Given the description of an element on the screen output the (x, y) to click on. 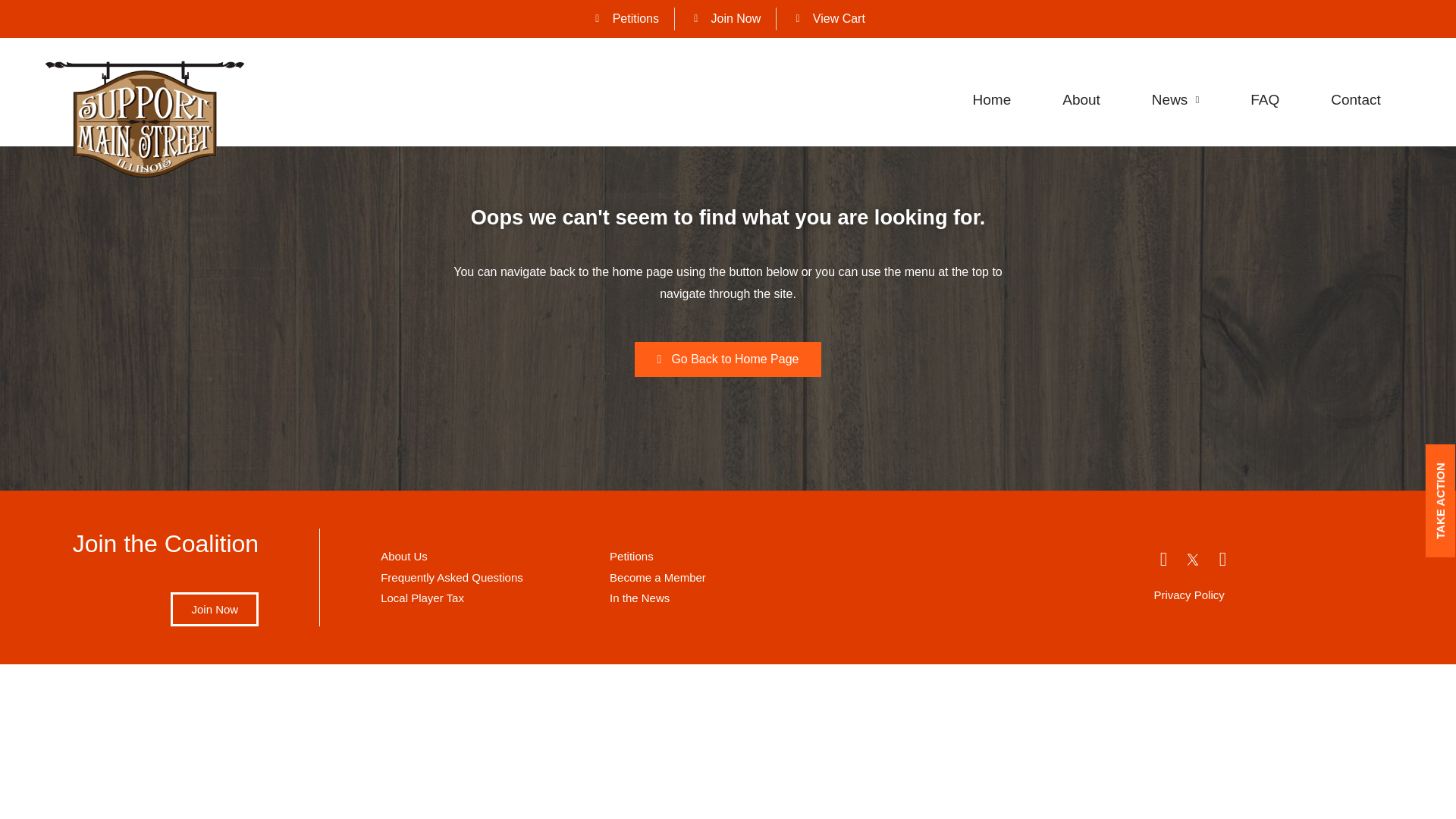
About (1080, 99)
FAQ (1264, 99)
News (1174, 99)
View Cart (827, 18)
Contact (1355, 99)
Join Now (724, 18)
Petitions (625, 18)
Home (991, 99)
